Given the description of an element on the screen output the (x, y) to click on. 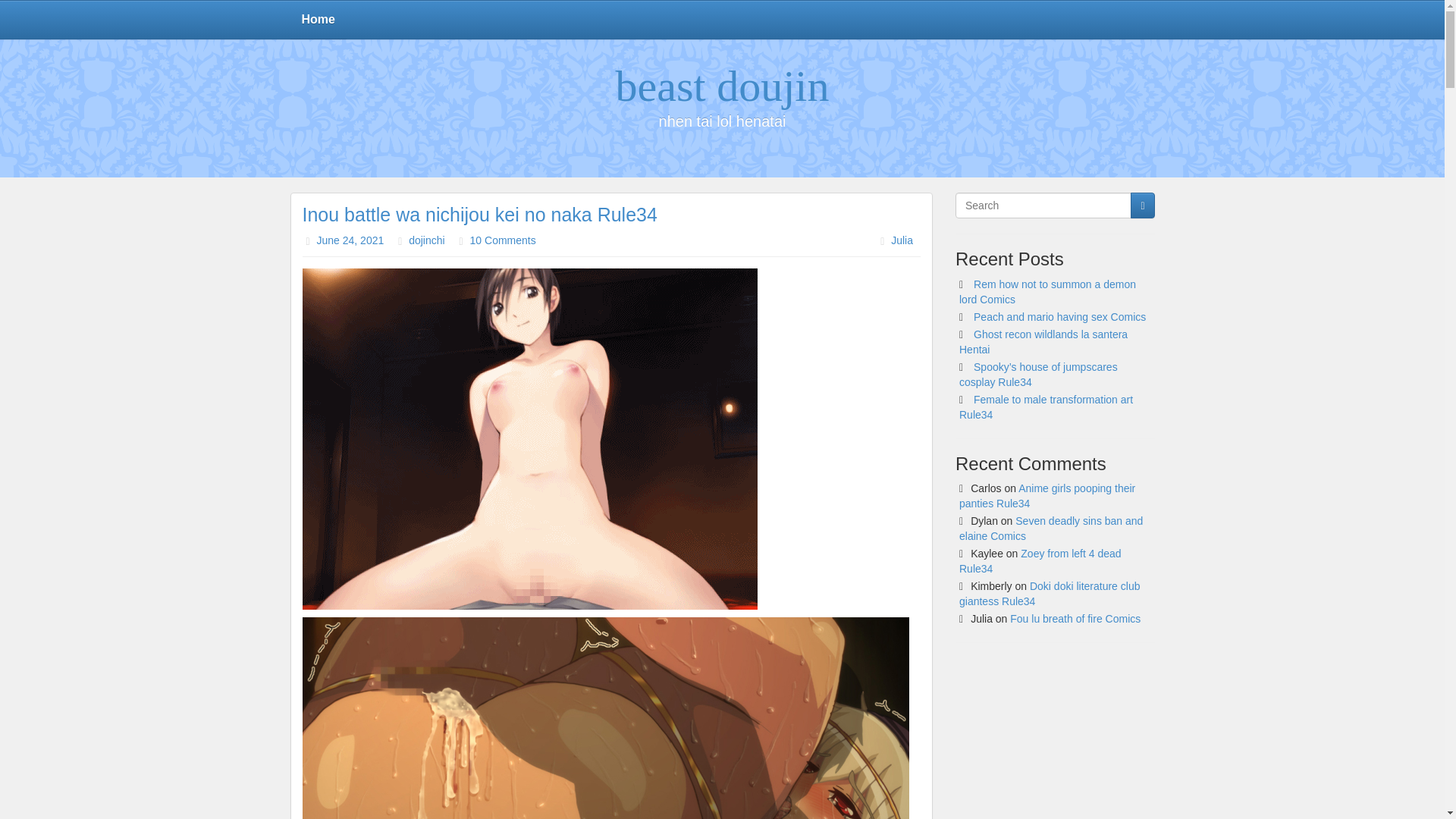
beast doujin (722, 85)
Ghost recon wildlands la santera Hentai (1042, 341)
Fou lu breath of fire Comics (1075, 618)
Home (317, 19)
Seven deadly sins ban and elaine Comics (1050, 528)
Inou battle wa nichijou kei no naka Rule34 (478, 214)
Doki doki literature club giantess Rule34 (1049, 593)
beast doujin (722, 85)
Zoey from left 4 dead Rule34 (1040, 560)
Anime girls pooping their panties Rule34 (1047, 495)
